Given the description of an element on the screen output the (x, y) to click on. 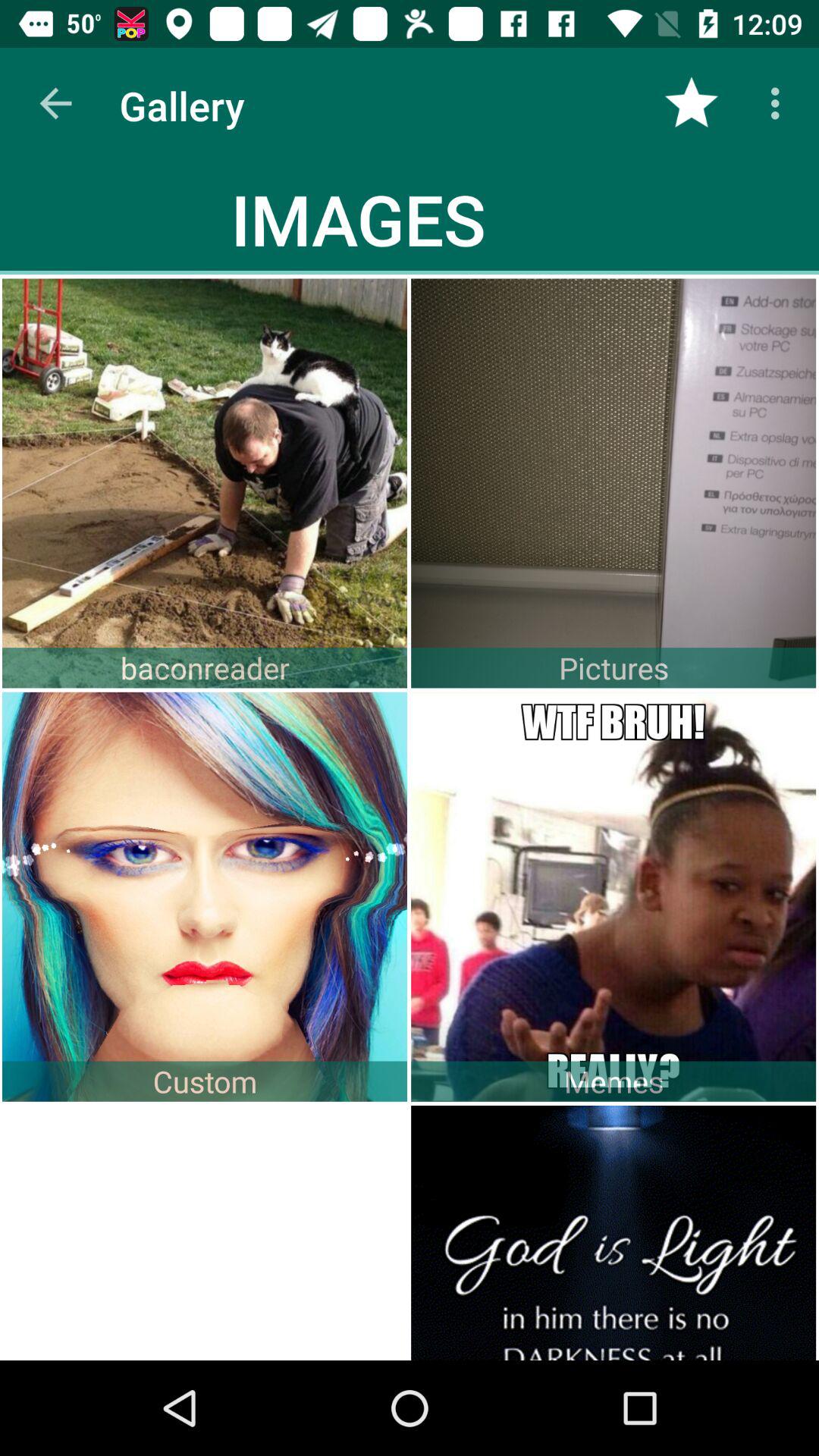
launch the item to the right of the images (691, 103)
